Given the description of an element on the screen output the (x, y) to click on. 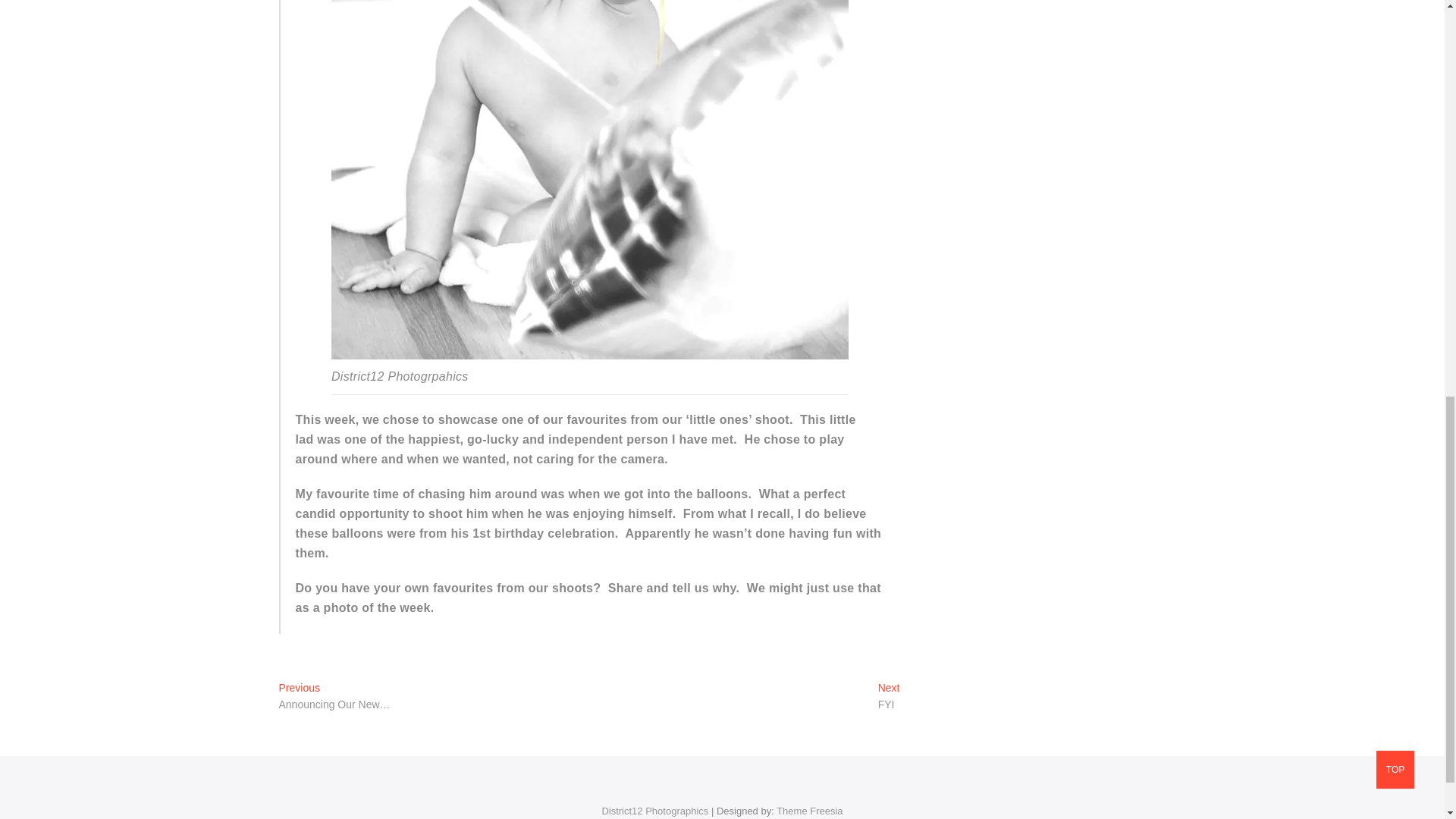
District12 Photographics (654, 810)
Theme Freesia (809, 810)
Theme Freesia (809, 810)
District12 Photographics (654, 810)
